Given the description of an element on the screen output the (x, y) to click on. 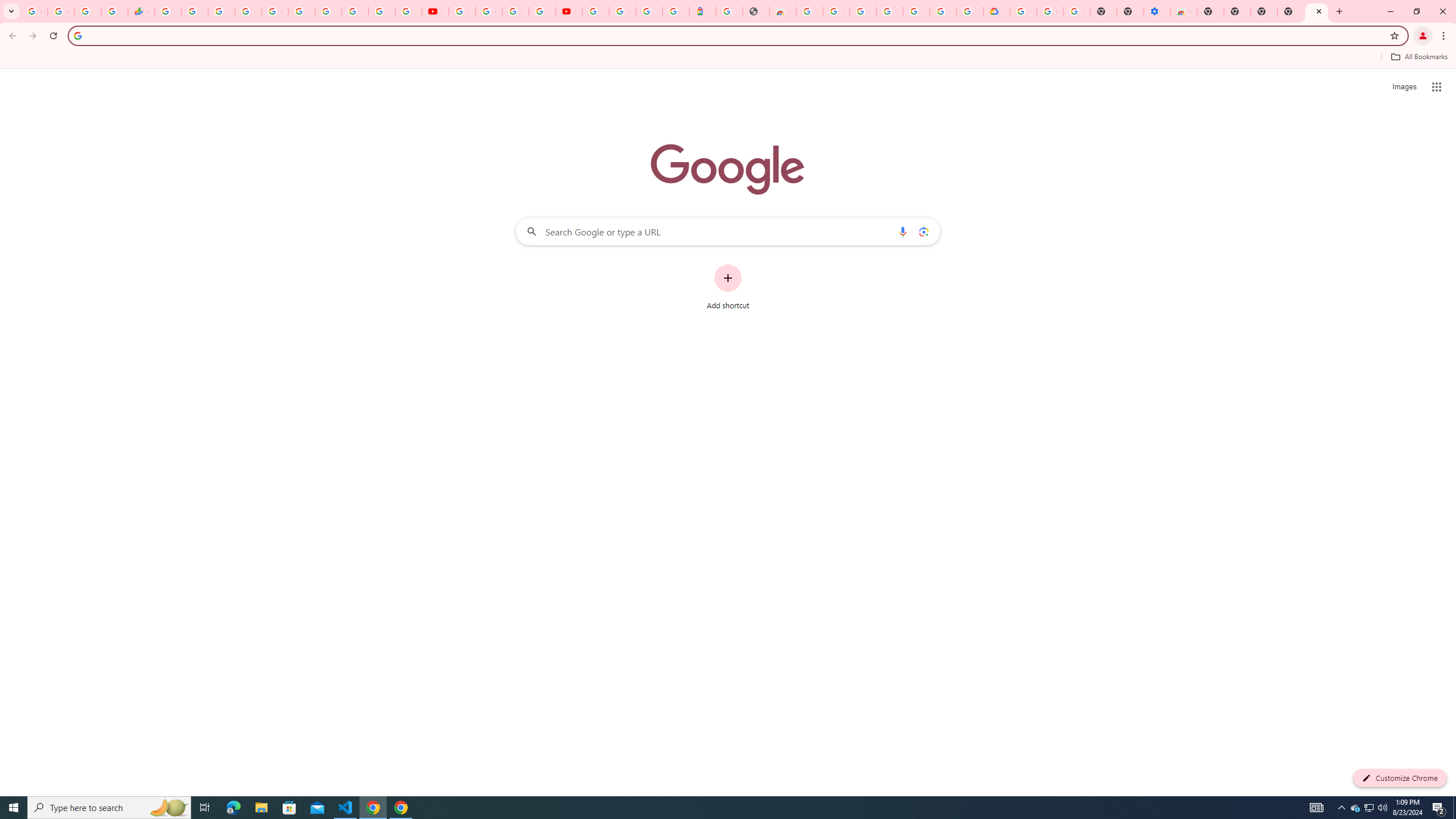
Sign in - Google Accounts (248, 11)
Google Account Help (1050, 11)
Create your Google Account (515, 11)
Sign in - Google Accounts (862, 11)
YouTube (435, 11)
